Given the description of an element on the screen output the (x, y) to click on. 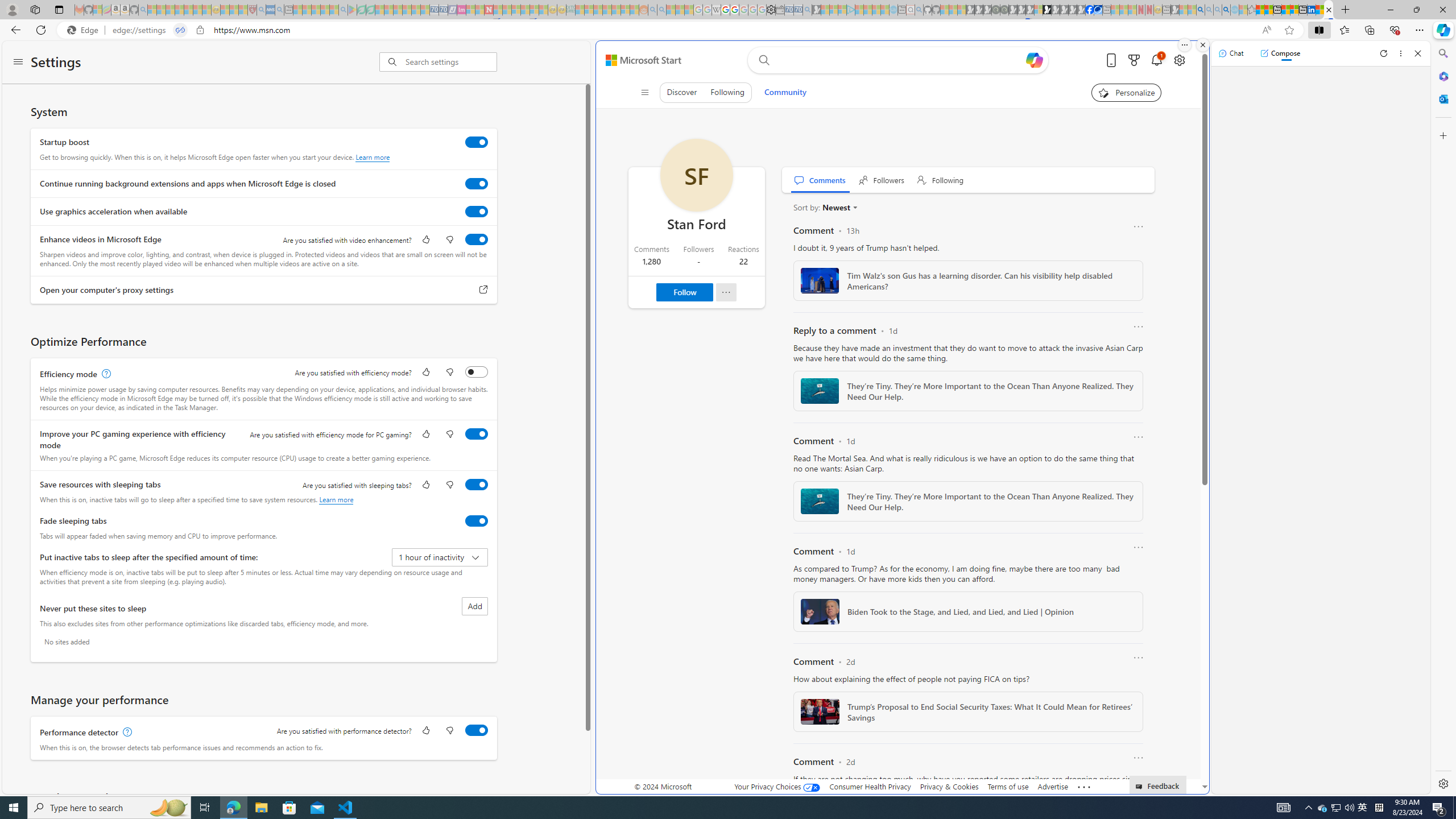
Target page - Wikipedia - Sleeping (716, 9)
Efficiency mode (476, 371)
 Following (940, 179)
Add site to never put these sites to sleep list (474, 606)
More options. (1183, 45)
